Given the description of an element on the screen output the (x, y) to click on. 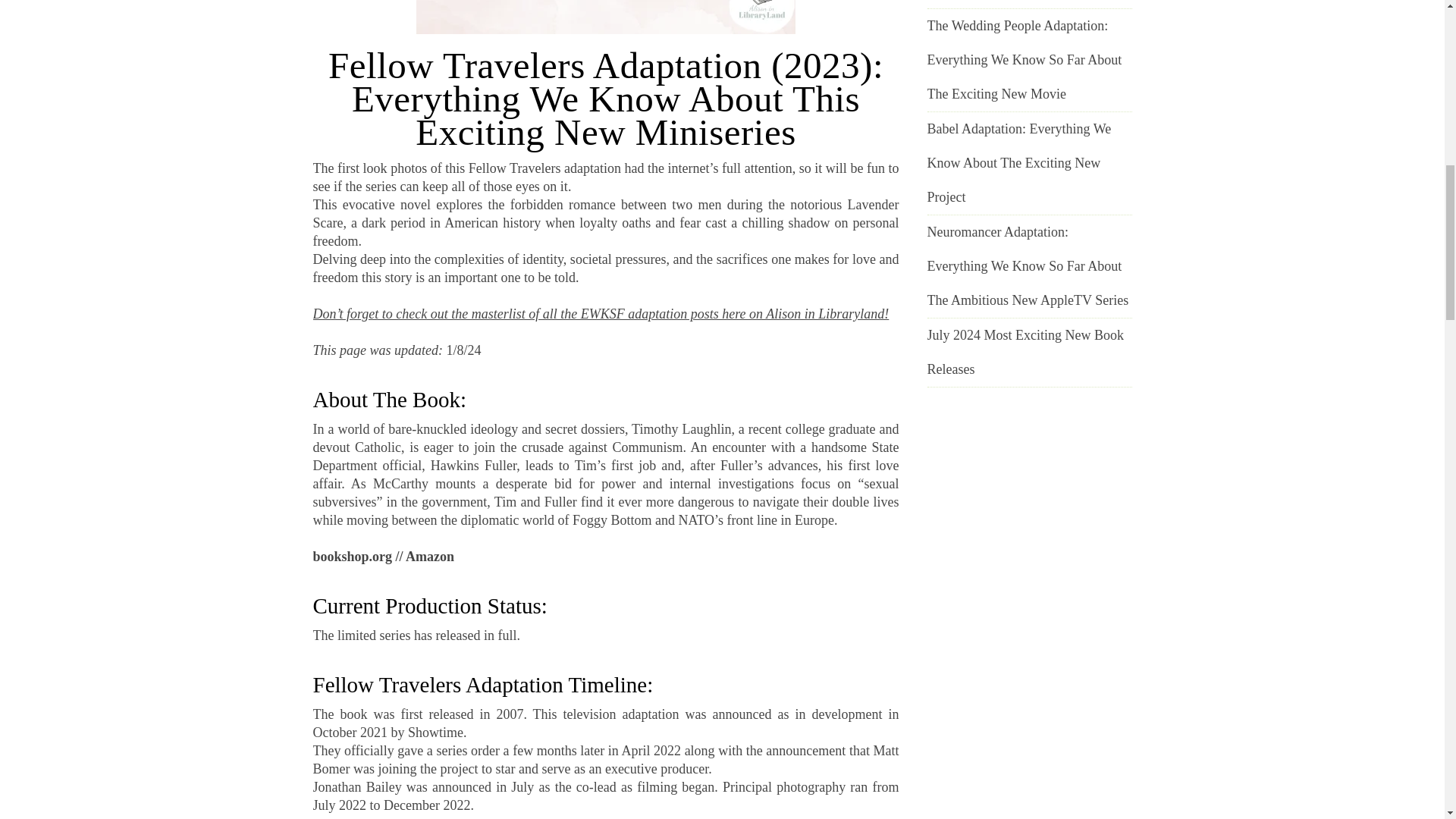
bookshop.org (352, 556)
Amazon (430, 556)
